Given the description of an element on the screen output the (x, y) to click on. 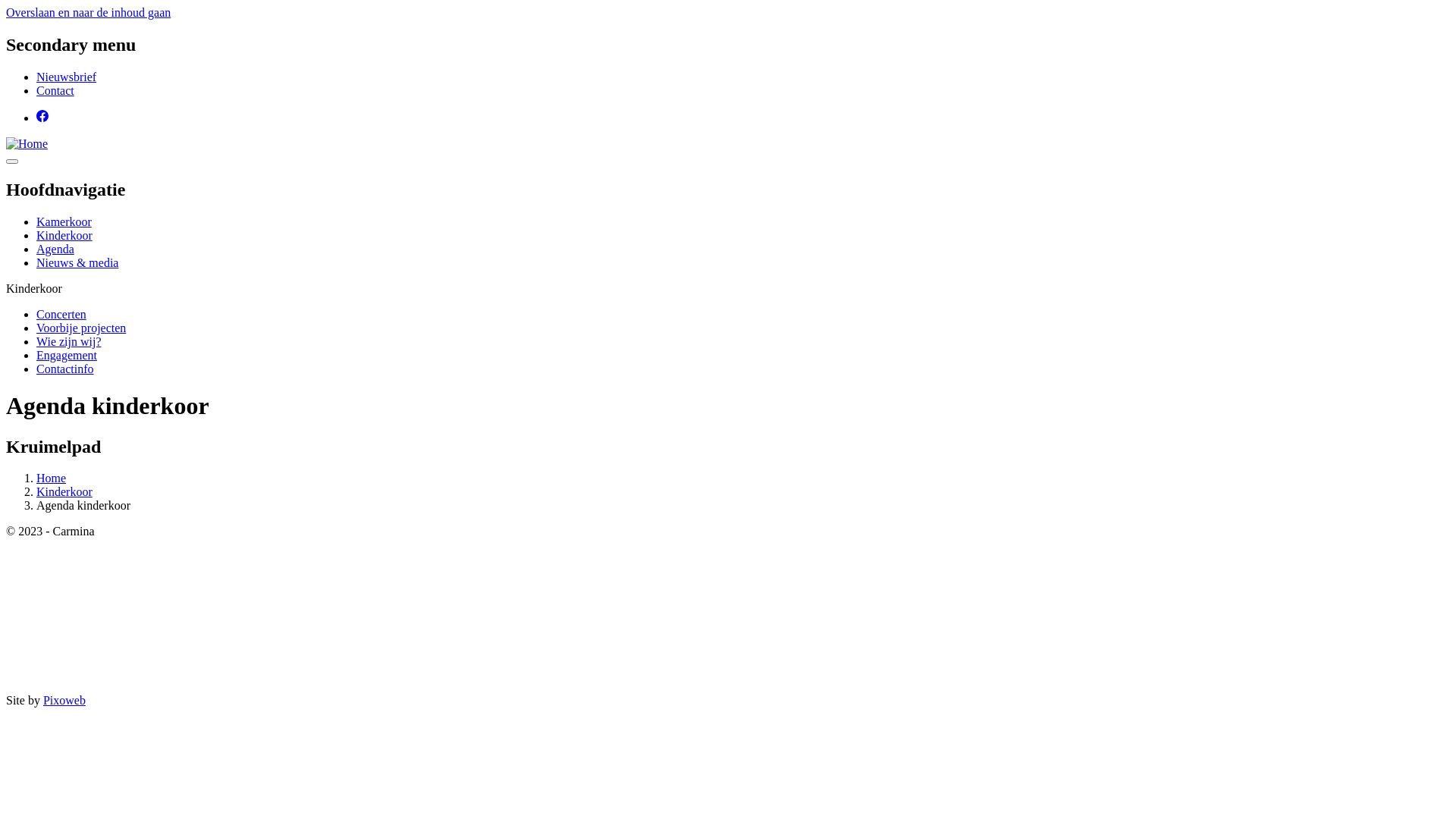
Nieuws & media Element type: text (77, 262)
Concerten Element type: text (61, 313)
Nieuwsbrief Element type: text (66, 76)
Contact Element type: text (55, 90)
Agenda Element type: text (55, 248)
Contactinfo Element type: text (65, 368)
Engagement Element type: text (66, 354)
Overslaan en naar de inhoud gaan Element type: text (88, 12)
Kinderkoor Element type: text (64, 491)
Voorbije projecten Element type: text (80, 327)
Wie zijn wij? Element type: text (68, 341)
Kamerkoor Element type: text (63, 221)
Kinderkoor Element type: text (64, 235)
Home Element type: text (50, 477)
Pixoweb Element type: text (64, 699)
